Given the description of an element on the screen output the (x, y) to click on. 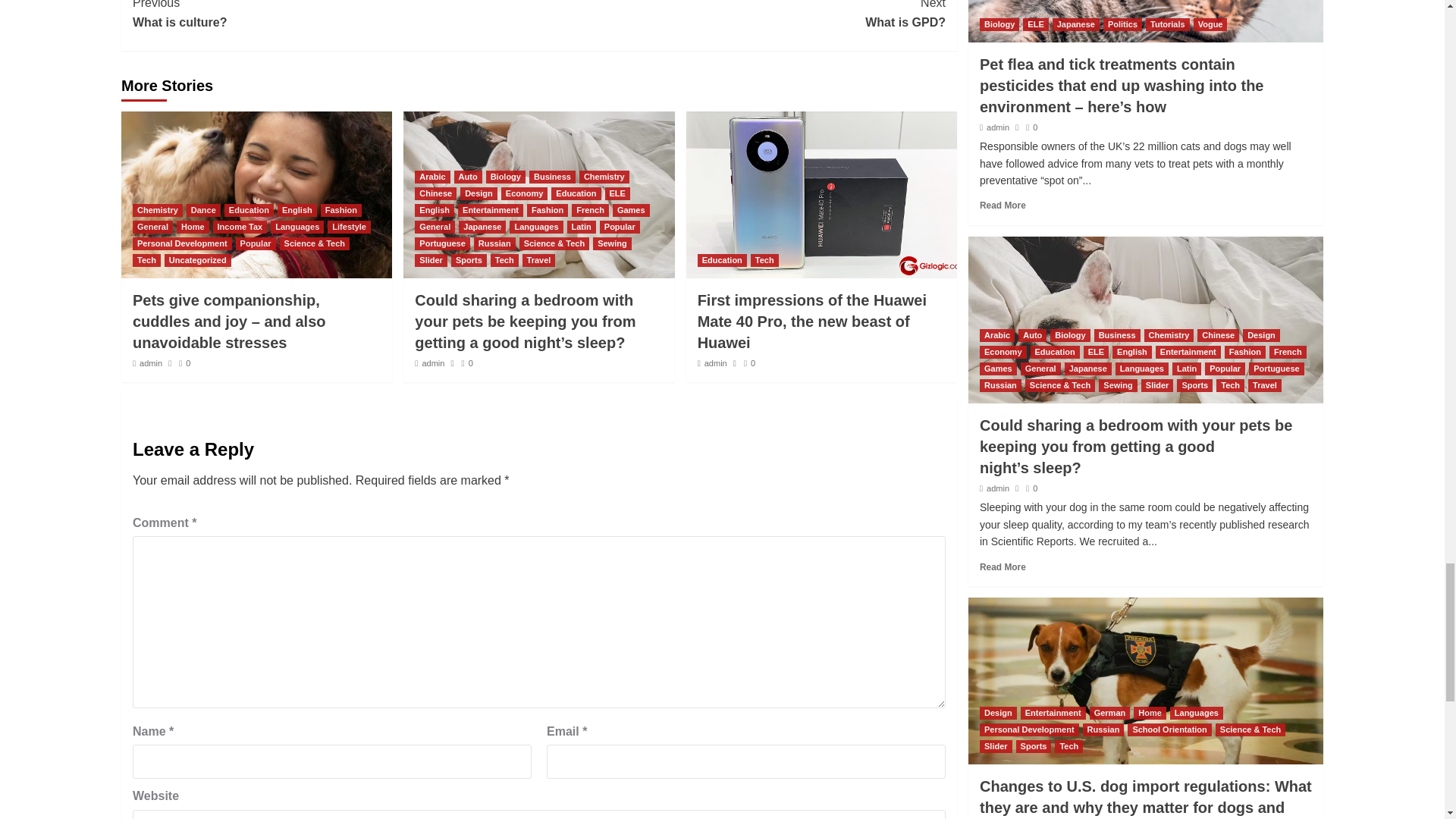
Chemistry (335, 15)
Home (157, 210)
Income Tax (192, 226)
Dance (239, 226)
General (203, 210)
Fashion (152, 226)
Education (741, 15)
English (340, 210)
